Given the description of an element on the screen output the (x, y) to click on. 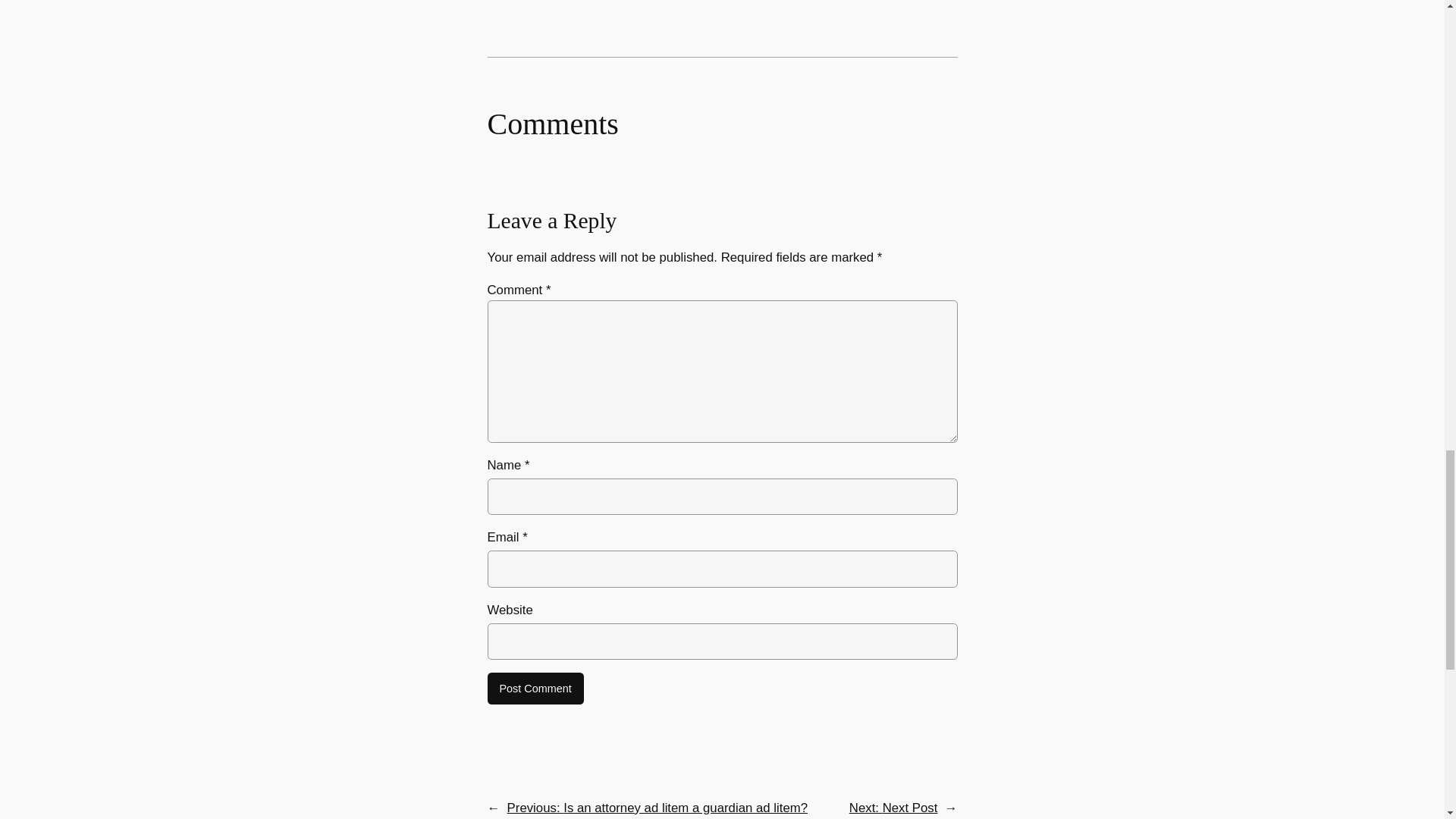
Post Comment (534, 688)
Post Comment (534, 688)
Previous: Is an attorney ad litem a guardian ad litem? (657, 807)
Next: Next Post (892, 807)
